Given the description of an element on the screen output the (x, y) to click on. 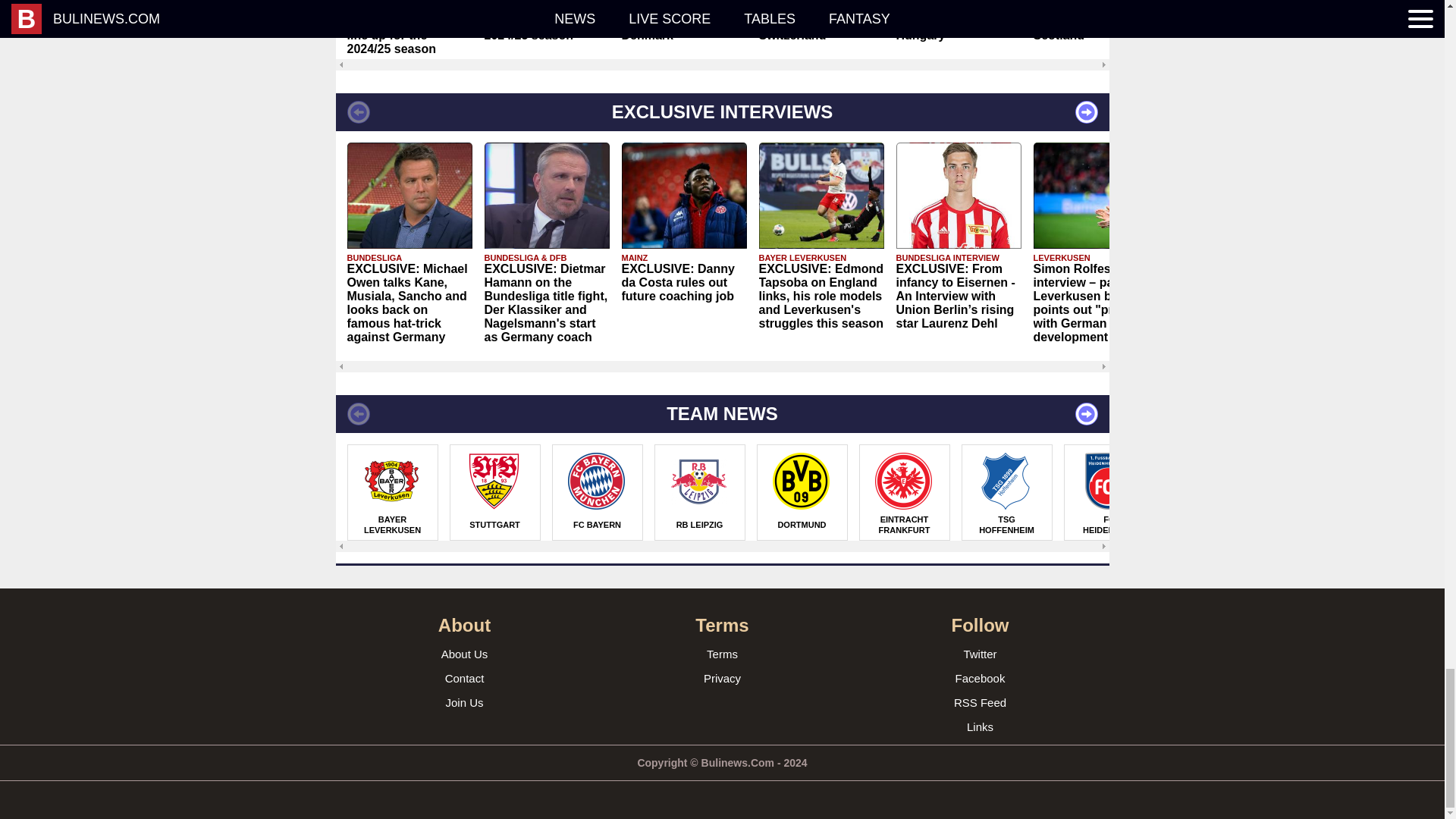
EXCLUSIVE INTERVIEWS (721, 112)
TEAM NEWS (721, 413)
